Given the description of an element on the screen output the (x, y) to click on. 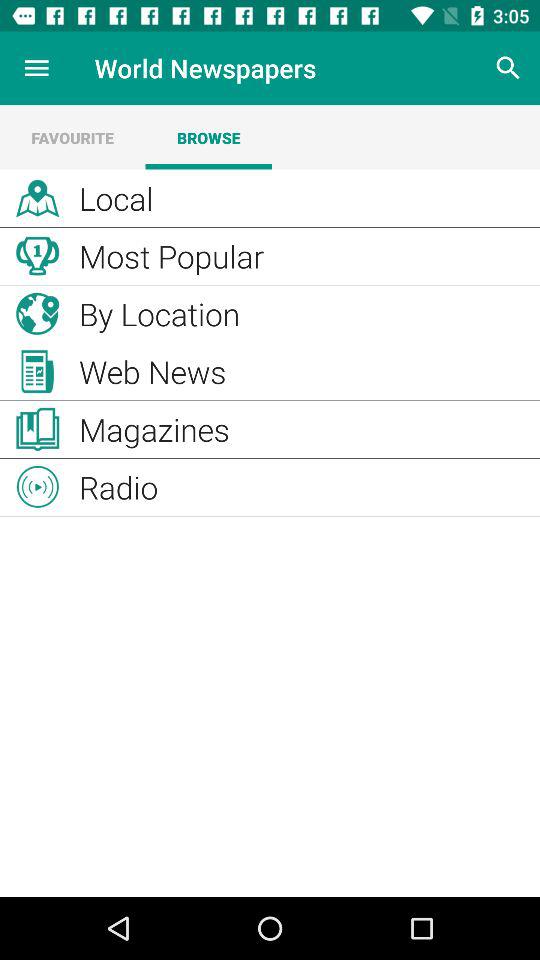
turn off the app to the right of world newspapers (508, 67)
